Given the description of an element on the screen output the (x, y) to click on. 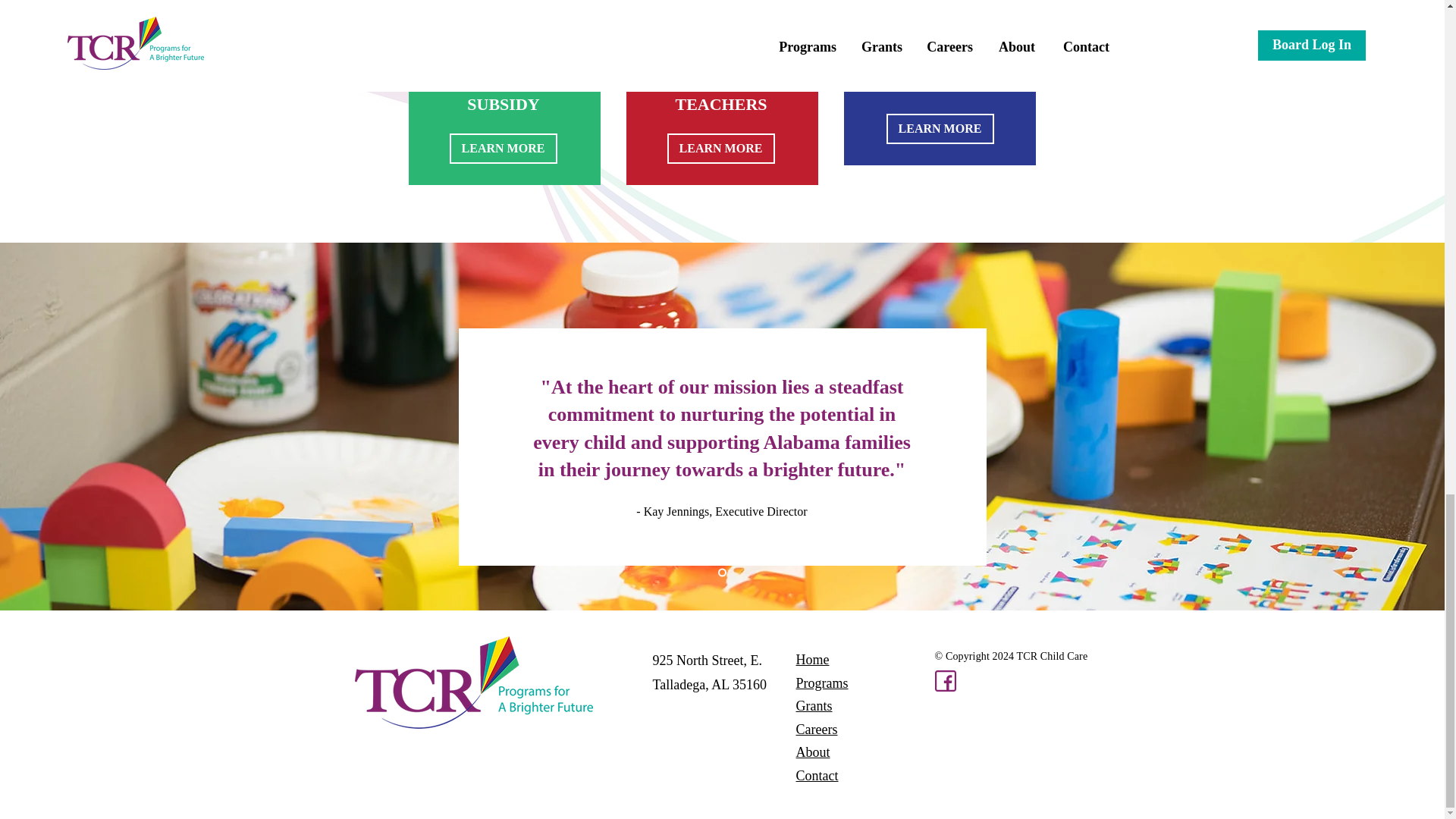
Grants (814, 705)
LEARN MORE (720, 148)
LEARN MORE (938, 128)
Home (812, 659)
Contact (817, 775)
LEARN MORE (502, 148)
Programs (822, 683)
About (812, 752)
Careers (817, 729)
